Given the description of an element on the screen output the (x, y) to click on. 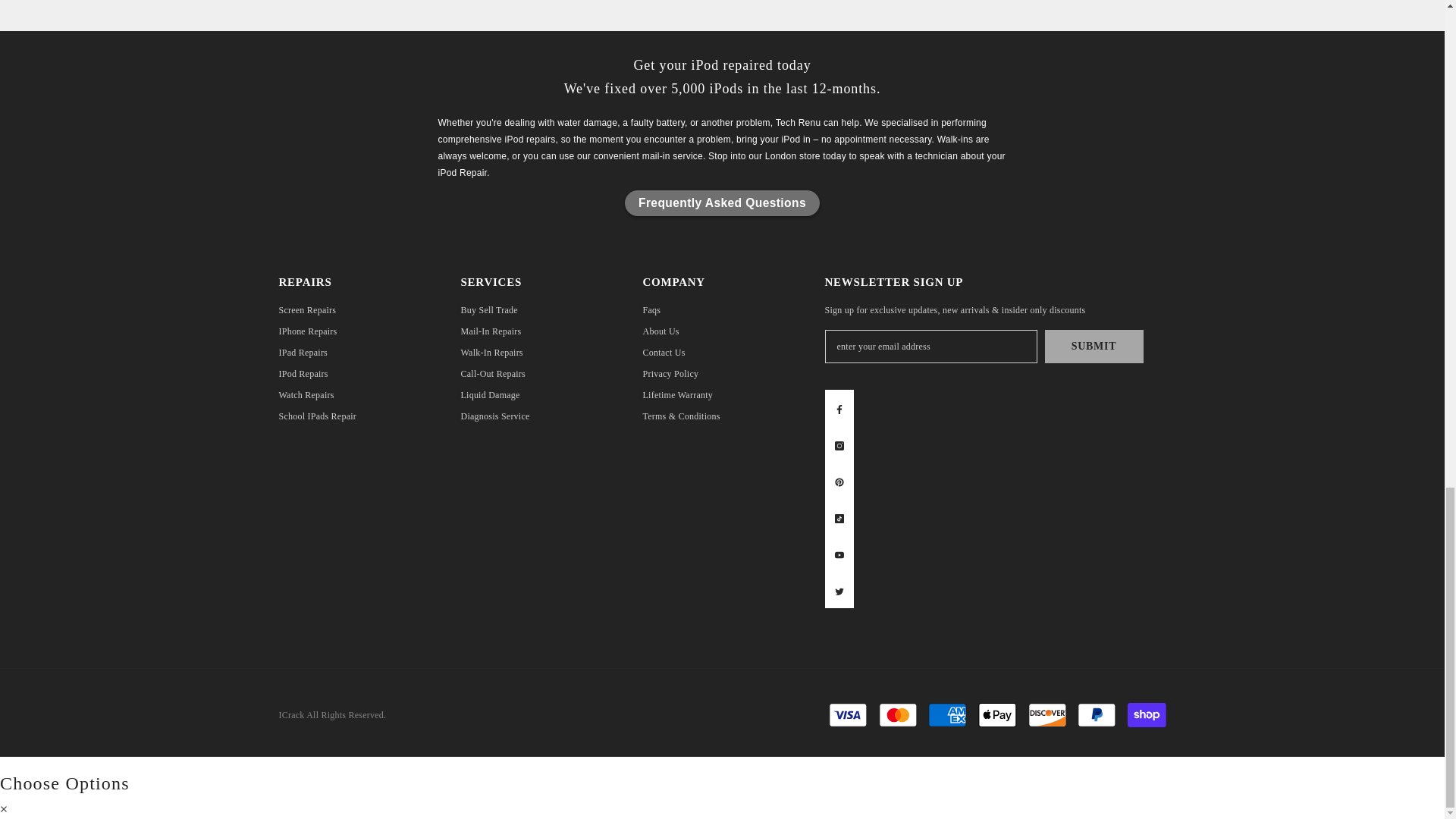
Mastercard (898, 714)
Visa (847, 714)
Shop Pay (1146, 714)
Apple Pay (997, 714)
PayPal (1096, 714)
Discover (1047, 714)
American Express (947, 714)
